Given the description of an element on the screen output the (x, y) to click on. 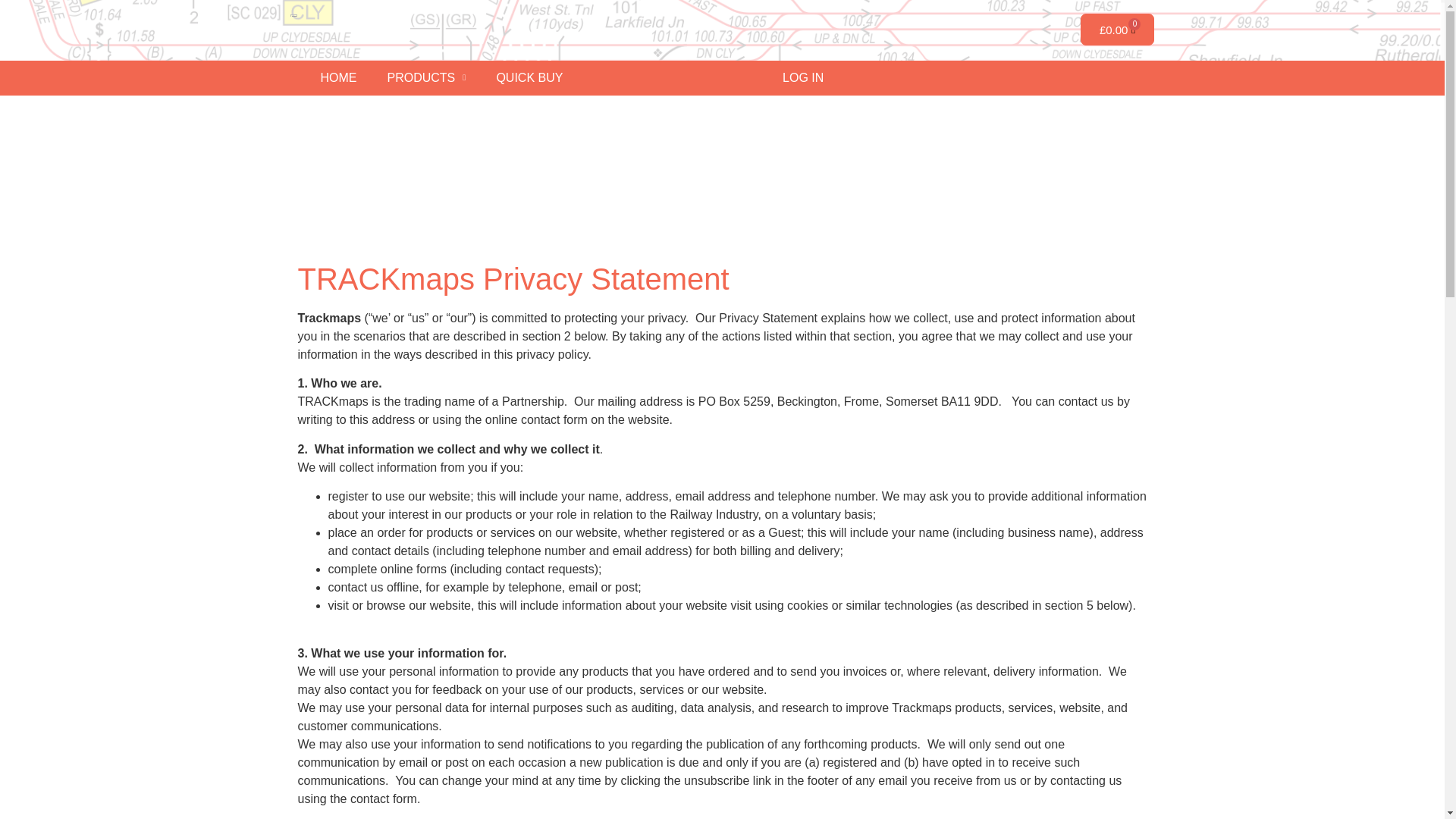
PRODUCTS (425, 77)
QUICK BUY (529, 77)
HOME (337, 77)
LOG IN (802, 77)
